Given the description of an element on the screen output the (x, y) to click on. 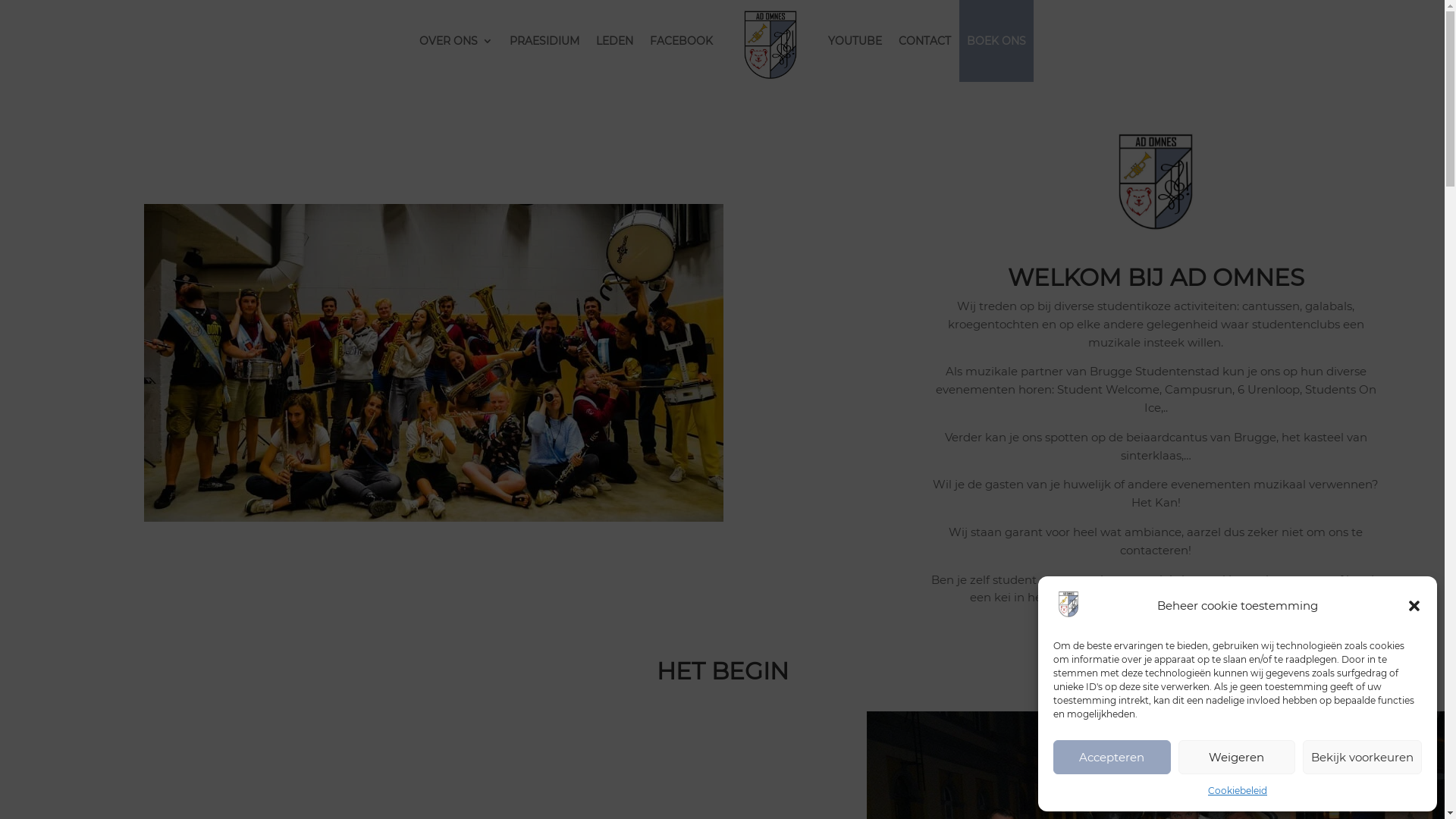
YOUTUBE Element type: text (854, 40)
OVER ONS Element type: text (455, 40)
Bekijk voorkeuren Element type: text (1361, 757)
Ad Omnes 2021 Element type: hover (433, 362)
Weigeren Element type: text (1236, 757)
BOEK ONS Element type: text (996, 40)
LEDEN Element type: text (614, 40)
PRAESIDIUM Element type: text (544, 40)
CONTACT Element type: text (924, 40)
Cookiebeleid Element type: text (1237, 790)
FACEBOOK Element type: text (680, 40)
Accepteren Element type: text (1111, 757)
Ad Omnes Logo Element type: hover (1155, 176)
